Given the description of an element on the screen output the (x, y) to click on. 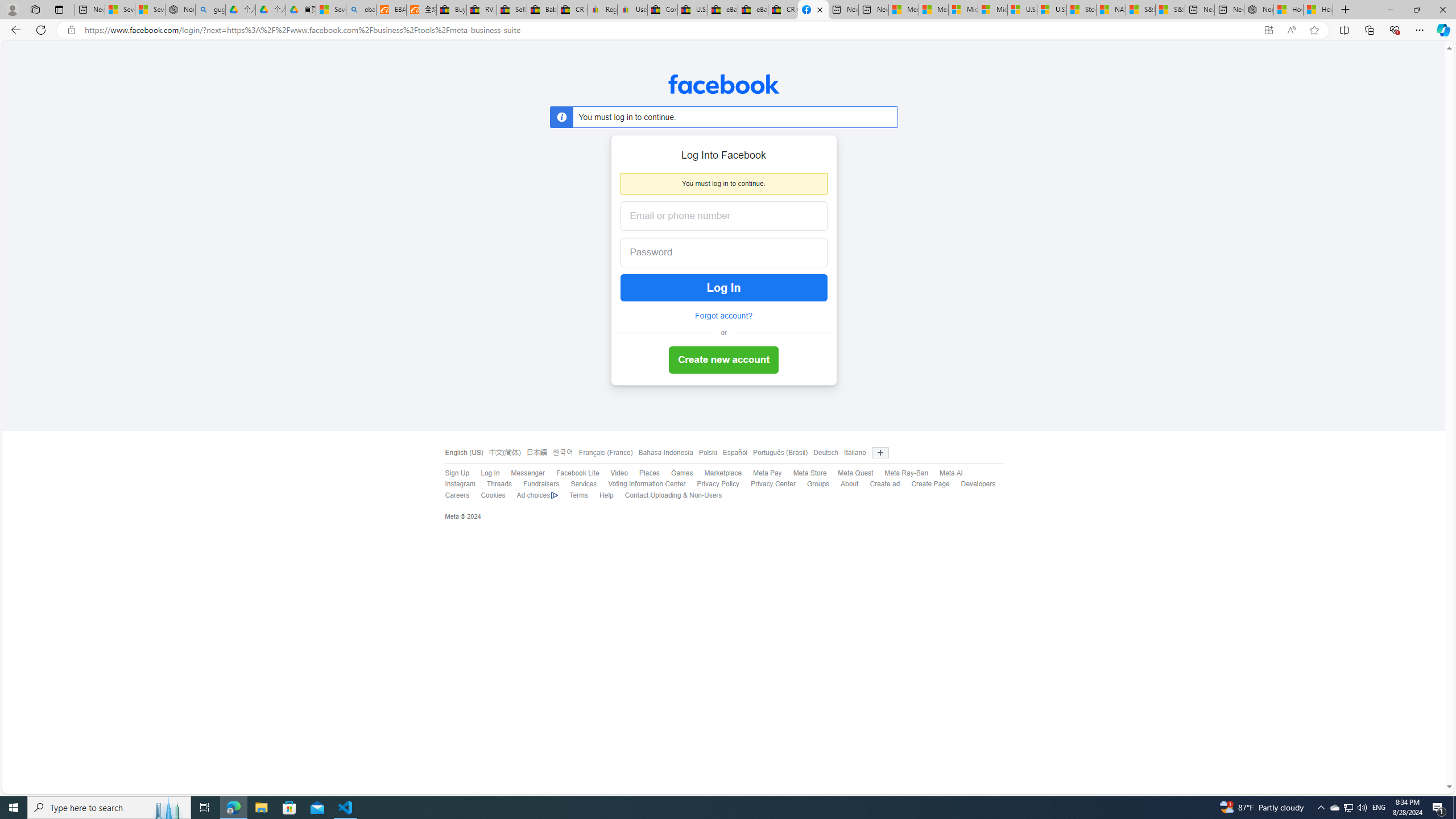
User Privacy Notice | eBay (632, 9)
Log into Facebook (812, 9)
Italiano (852, 452)
Buy Auto Parts & Accessories | eBay (450, 9)
Polski (705, 452)
Careers (451, 495)
Services (583, 483)
About (844, 484)
About (849, 483)
Services (577, 484)
